Given the description of an element on the screen output the (x, y) to click on. 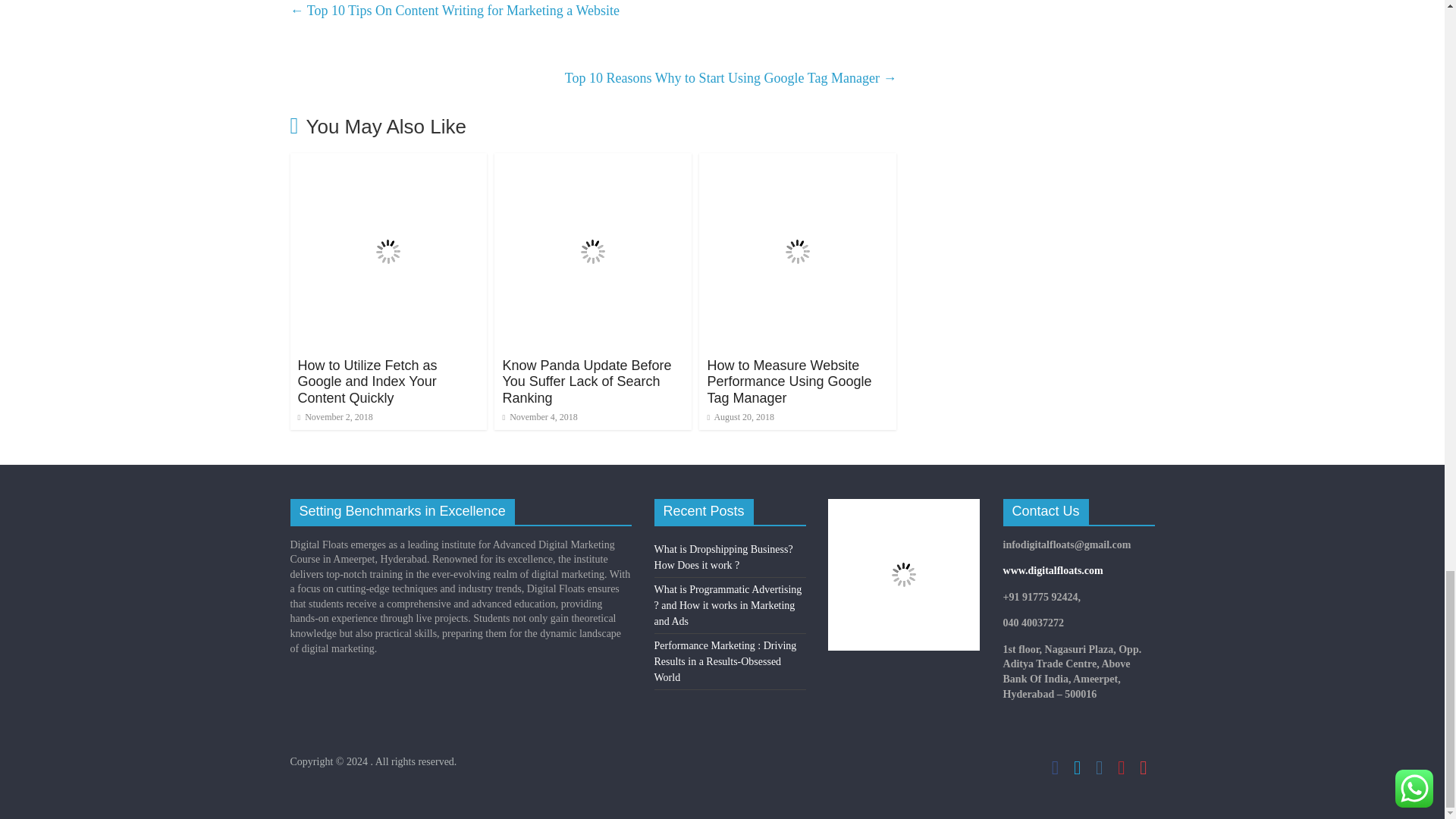
How to Measure Website Performance Using Google Tag Manager (797, 162)
How to Measure Website Performance Using Google Tag Manager (788, 381)
4:27 am (539, 416)
Know Panda Update Before You Suffer Lack of Search Ranking (593, 162)
2:04 pm (740, 416)
9:20 am (334, 416)
Know Panda Update Before You Suffer Lack of Search Ranking (586, 381)
